Given the description of an element on the screen output the (x, y) to click on. 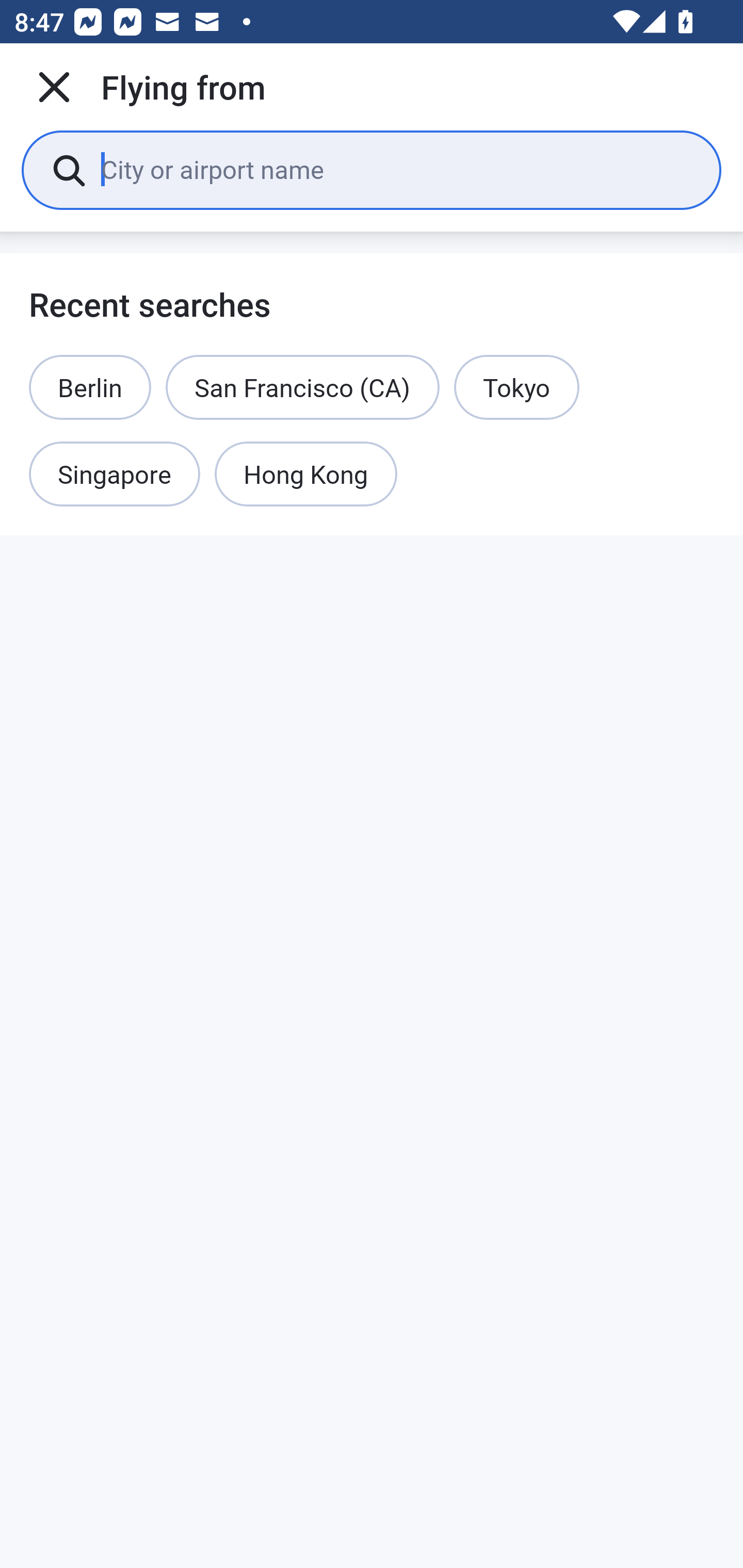
City or airport name (396, 169)
Berlin (89, 387)
San Francisco (CA) (302, 387)
Tokyo (516, 387)
Singapore (113, 474)
Hong Kong (305, 474)
